Given the description of an element on the screen output the (x, y) to click on. 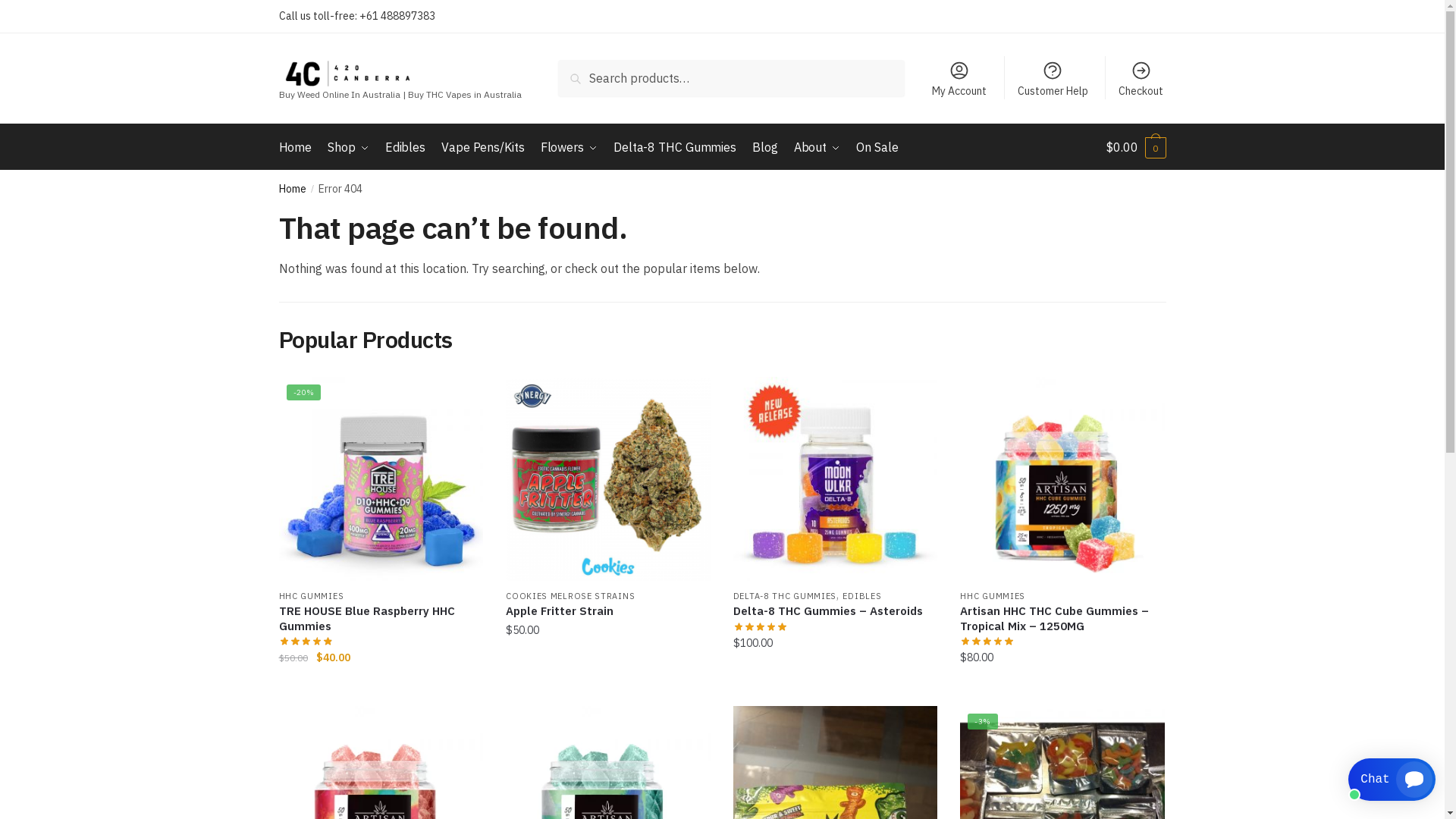
Smartsupp widget button Element type: hover (1391, 779)
EDIBLES Element type: text (861, 595)
Edibles Element type: text (405, 146)
HHC GUMMIES Element type: text (992, 595)
Customer Help Element type: text (1053, 78)
About Element type: text (817, 146)
Checkout Element type: text (1141, 78)
Vape Pens/Kits Element type: text (482, 146)
Search Element type: text (594, 76)
Home Element type: text (292, 188)
-20% Element type: text (381, 478)
DELTA-8 THC GUMMIES Element type: text (784, 595)
Home Element type: text (298, 146)
$0.00 0 Element type: text (1135, 146)
COOKIES MELROSE STRAINS Element type: text (569, 595)
Apple Fritter Strain Element type: text (607, 610)
TRE HOUSE Blue Raspberry HHC Gummies Element type: text (381, 618)
Blog Element type: text (765, 146)
Flowers Element type: text (568, 146)
HHC GUMMIES Element type: text (311, 595)
Shop Element type: text (348, 146)
Delta-8 THC Gummies Element type: text (674, 146)
My Account Element type: text (959, 78)
On Sale Element type: text (876, 146)
